Given the description of an element on the screen output the (x, y) to click on. 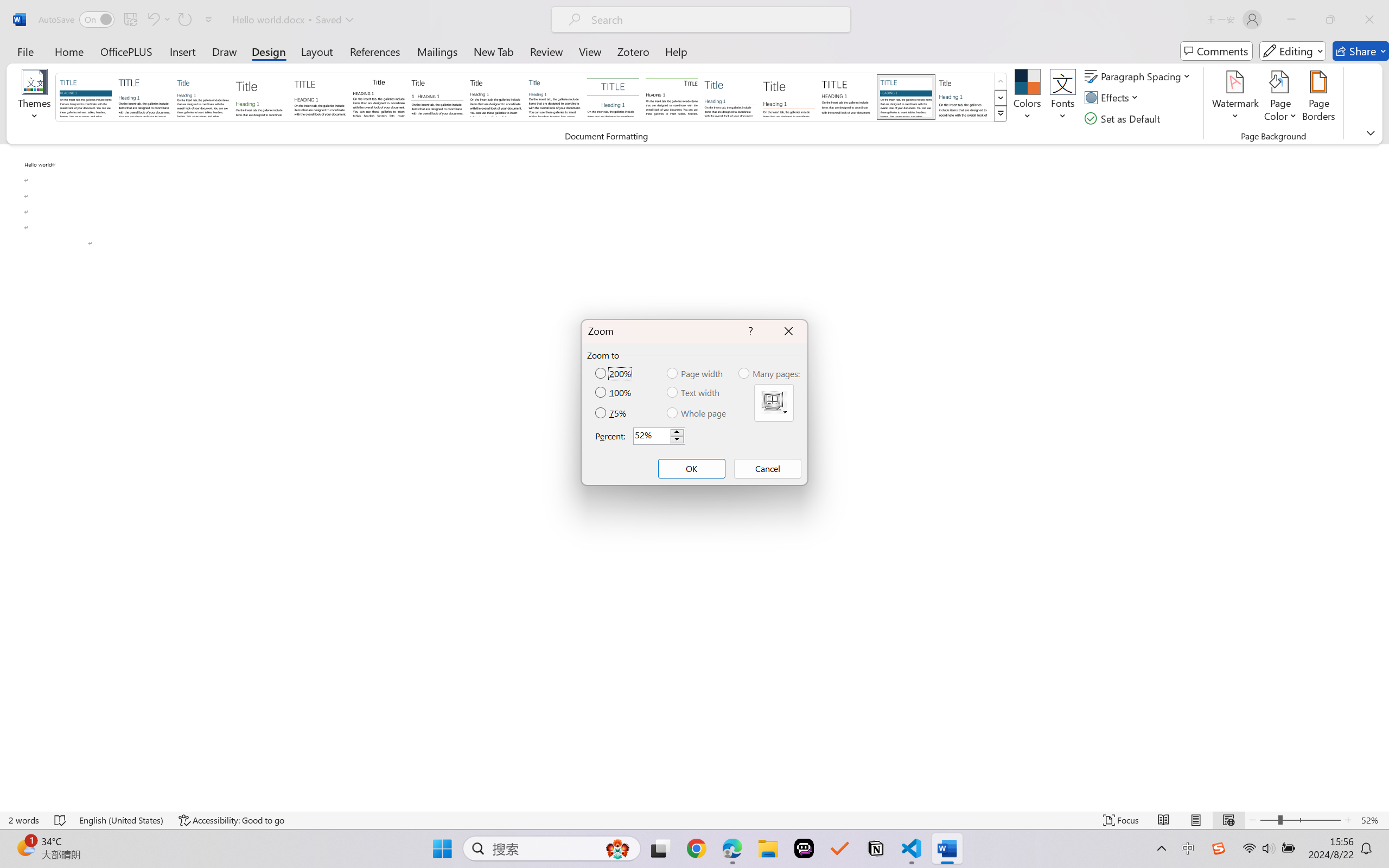
100% (614, 392)
Watermark (1235, 97)
Class: NetUIImage (1000, 114)
Class: MsoCommandBar (694, 819)
Google Chrome (696, 848)
More Options (167, 19)
Effects (1113, 97)
Ribbon Display Options (1370, 132)
Save (130, 19)
Black & White (Numbered) (437, 96)
AutomationID: DynamicSearchBoxGleamImage (617, 848)
